Given the description of an element on the screen output the (x, y) to click on. 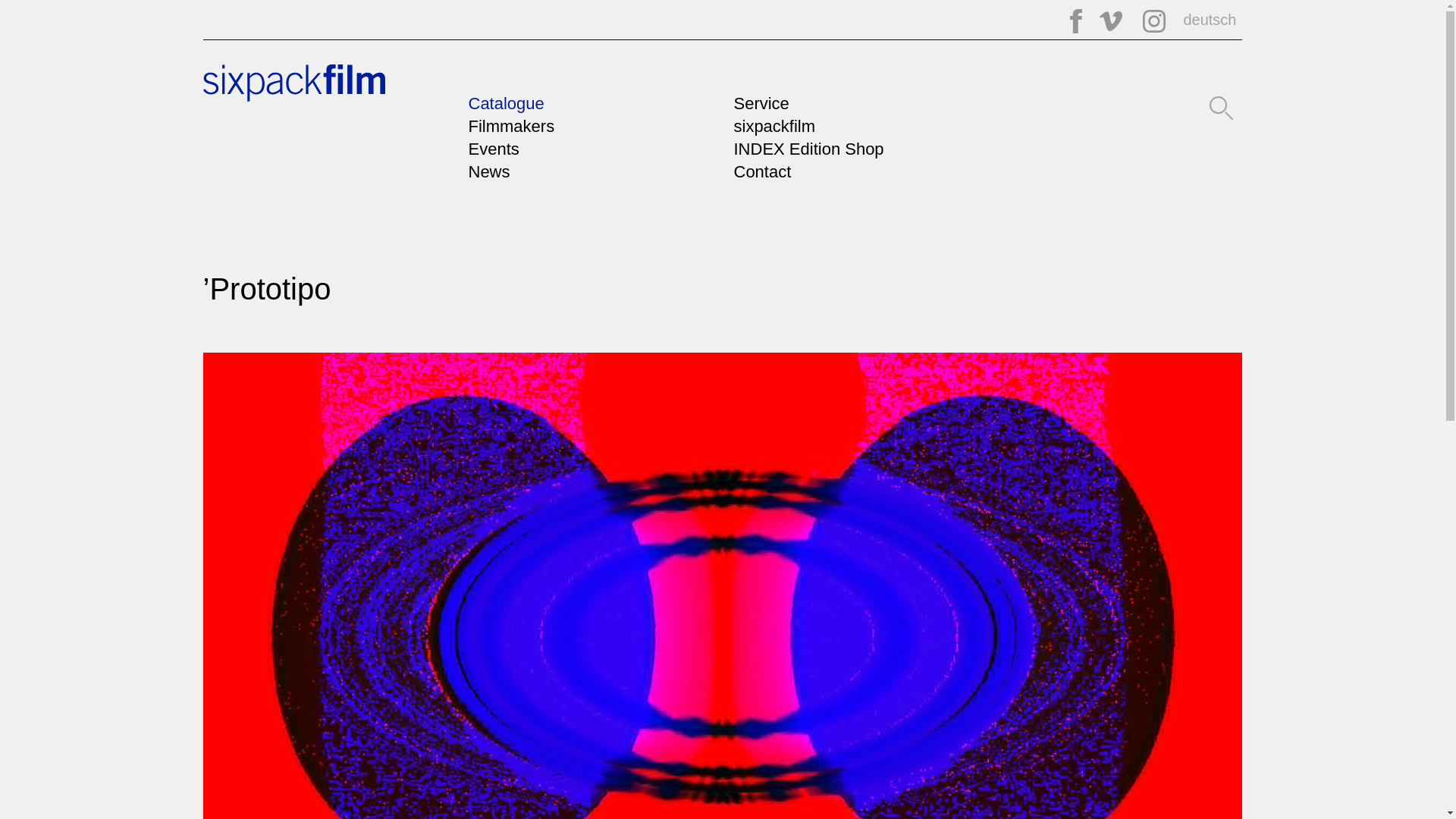
News (489, 171)
sixpackfilm (294, 95)
Events (493, 148)
Search (1220, 106)
Filmmakers (511, 126)
sixpackfilm (774, 126)
deutsch (1202, 19)
INDEX Edition Shop (808, 148)
Catalogue (506, 103)
Sprache wechseln: Deutsch (1202, 19)
